Given the description of an element on the screen output the (x, y) to click on. 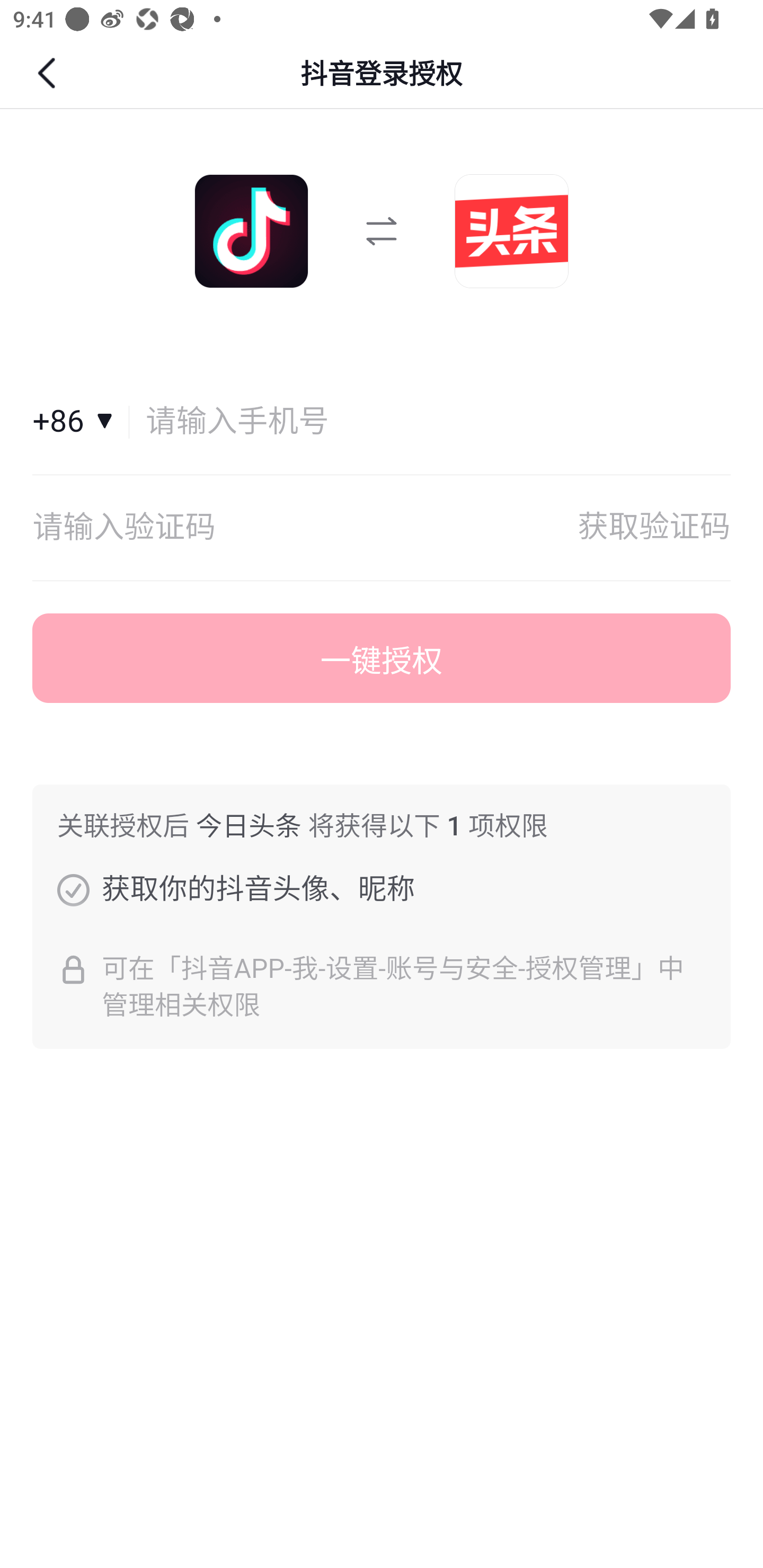
返回 (49, 72)
国家和地区+86 (81, 421)
获取验证码 (653, 527)
一键授权 (381, 658)
获取你的抖音头像、昵称 (72, 889)
